Given the description of an element on the screen output the (x, y) to click on. 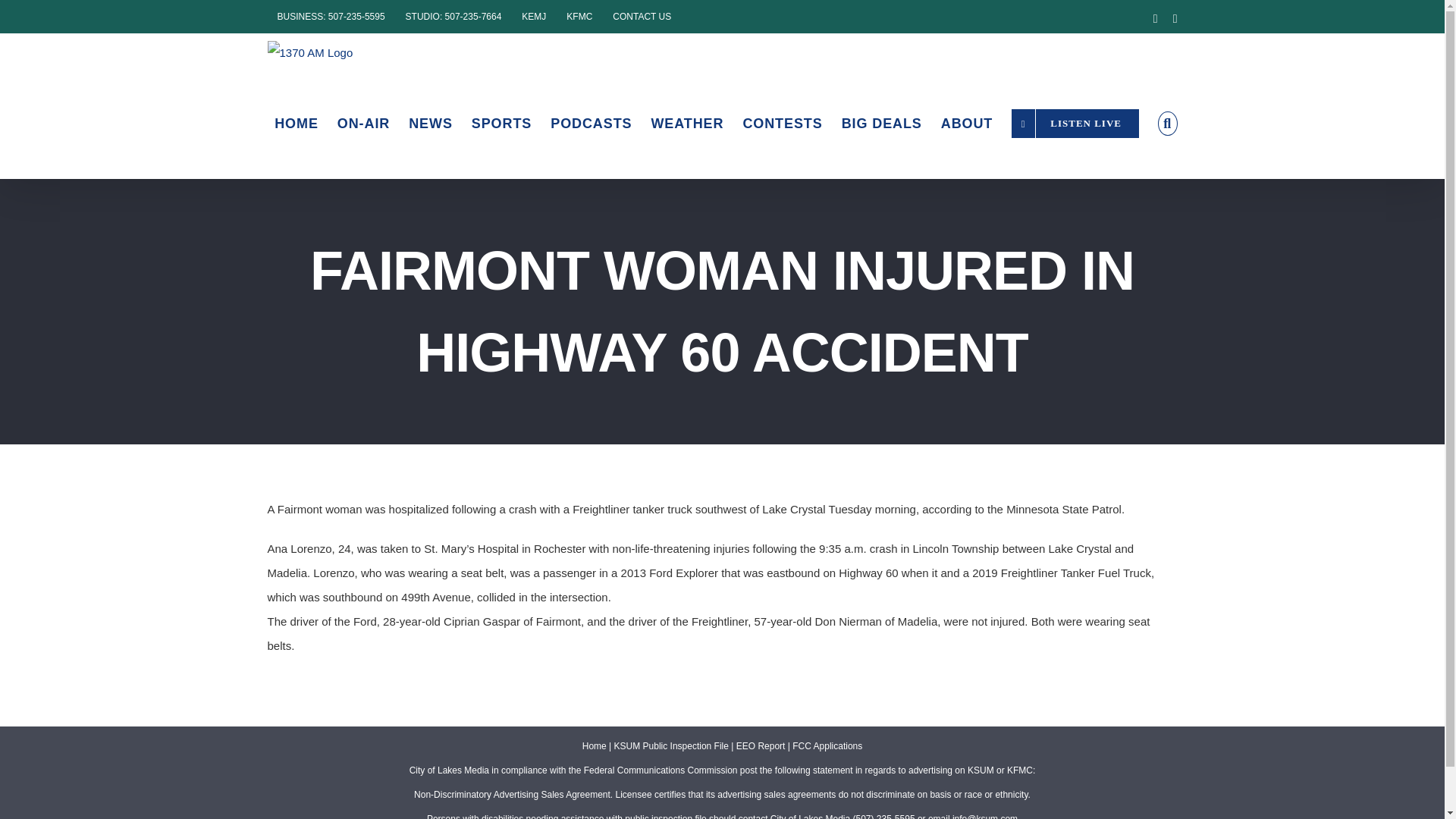
KEMJ (534, 15)
CONTACT US (641, 15)
KFMC (579, 15)
LISTEN LIVE (1074, 123)
BUSINESS: 507-235-5595 (330, 15)
STUDIO: 507-235-7664 (454, 15)
Home (594, 746)
